Given the description of an element on the screen output the (x, y) to click on. 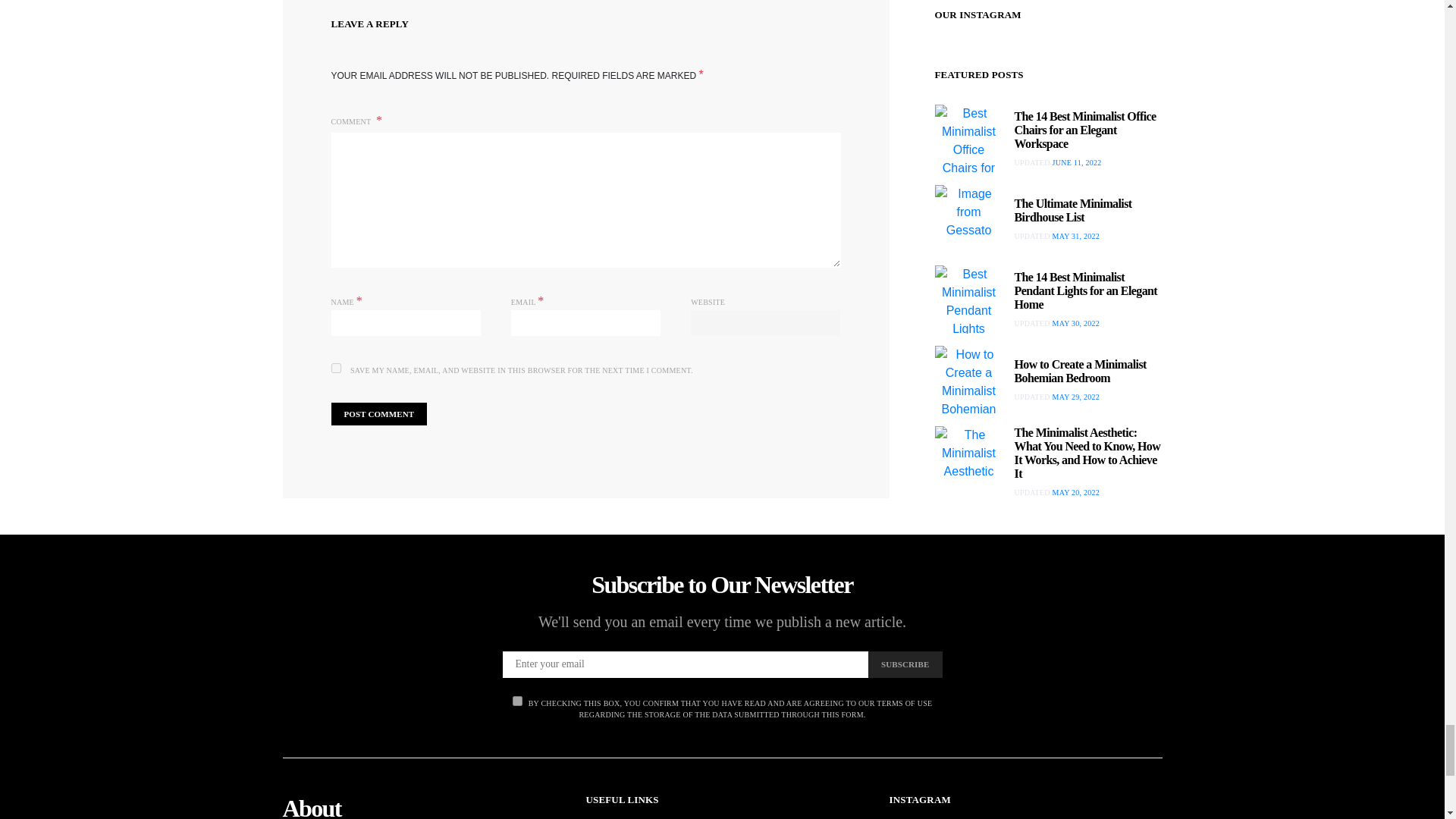
Post Comment (378, 413)
yes (335, 368)
on (517, 700)
